Given the description of an element on the screen output the (x, y) to click on. 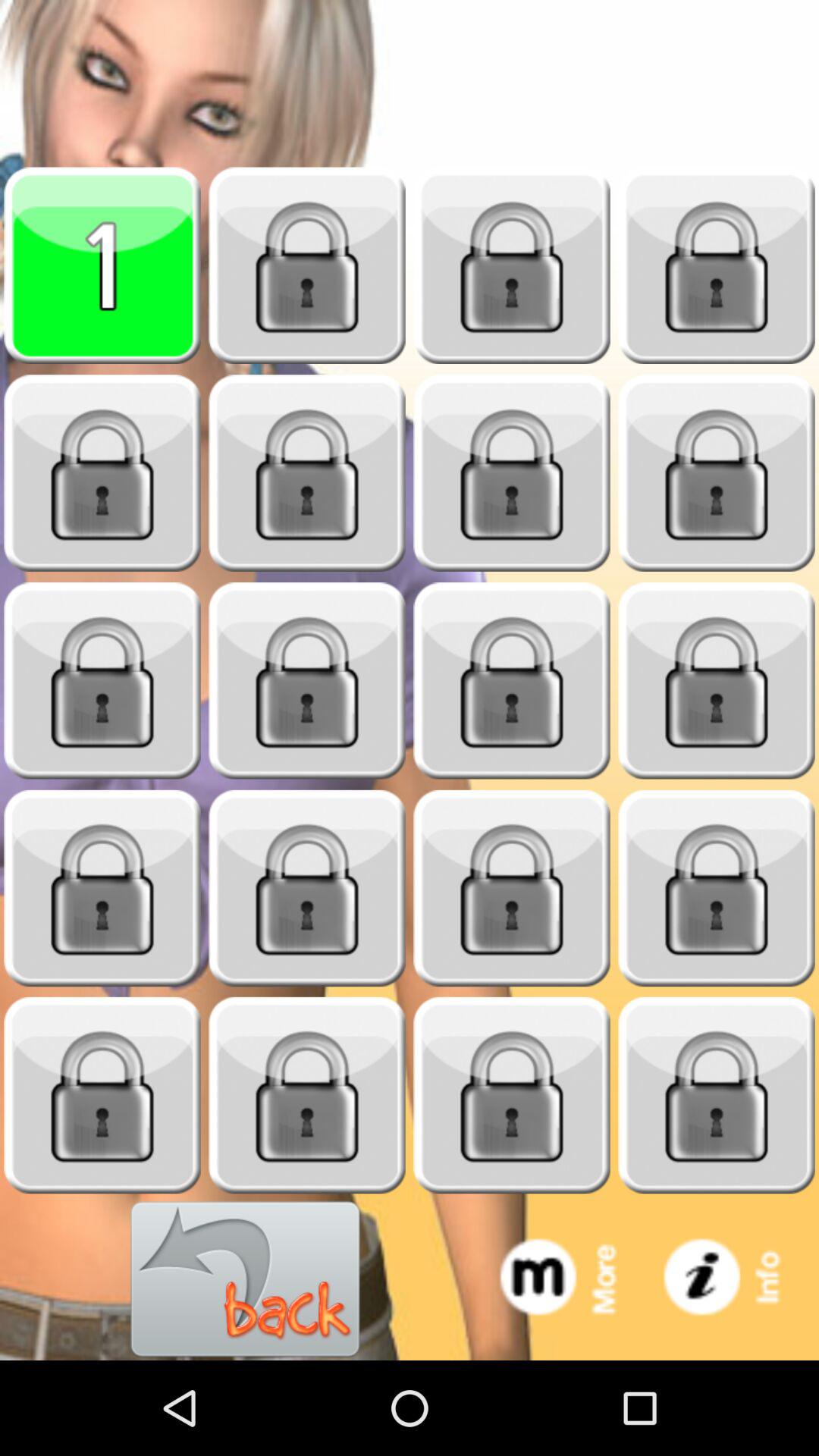
go to next button (716, 473)
